Given the description of an element on the screen output the (x, y) to click on. 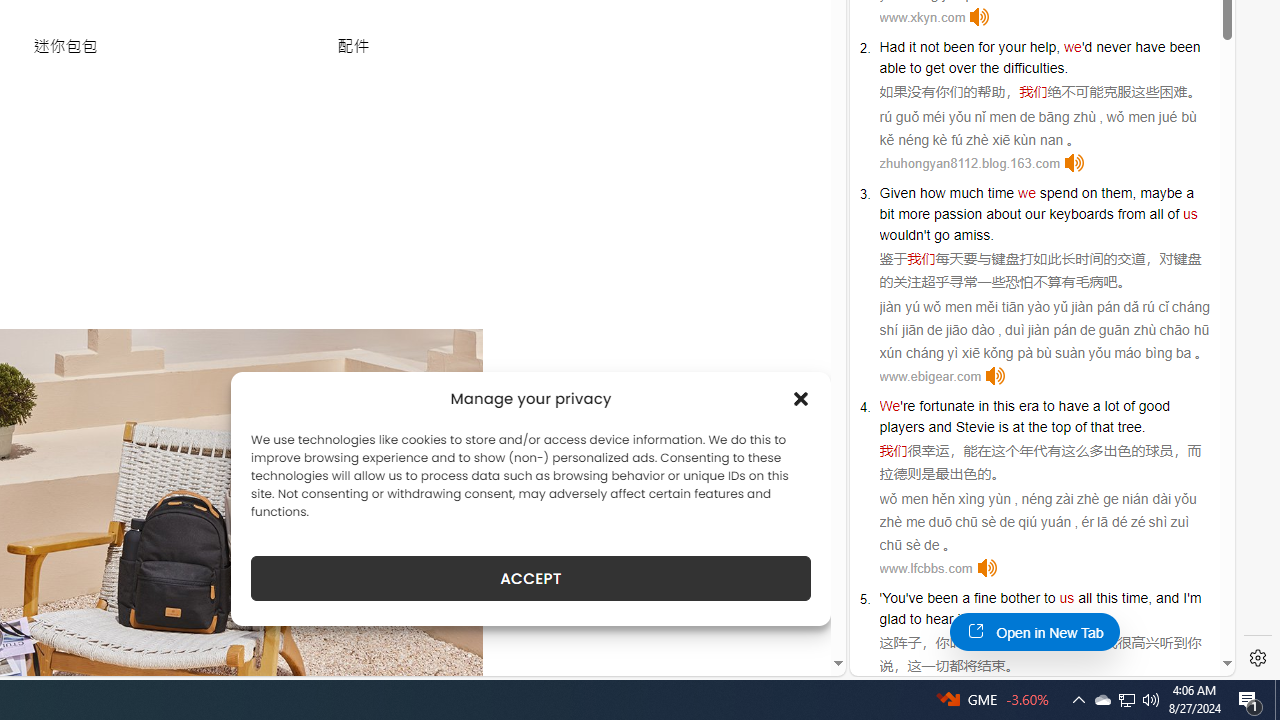
a (966, 597)
Click to listen (986, 568)
www.ebigear.com (930, 375)
Next (437, 651)
hear (939, 619)
www.lfcbbs.com (925, 568)
about (1003, 213)
' (881, 597)
